Given the description of an element on the screen output the (x, y) to click on. 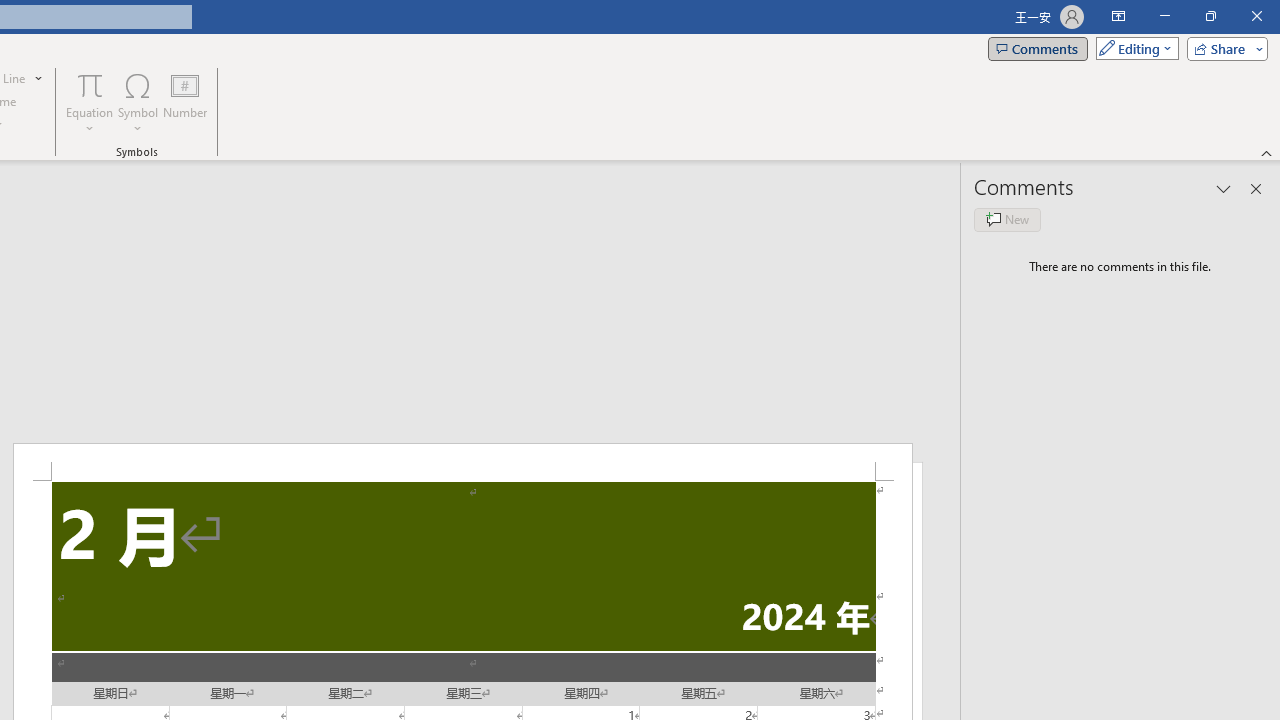
New comment (1007, 219)
Equation (90, 102)
Symbol (138, 102)
Number... (185, 102)
